Given the description of an element on the screen output the (x, y) to click on. 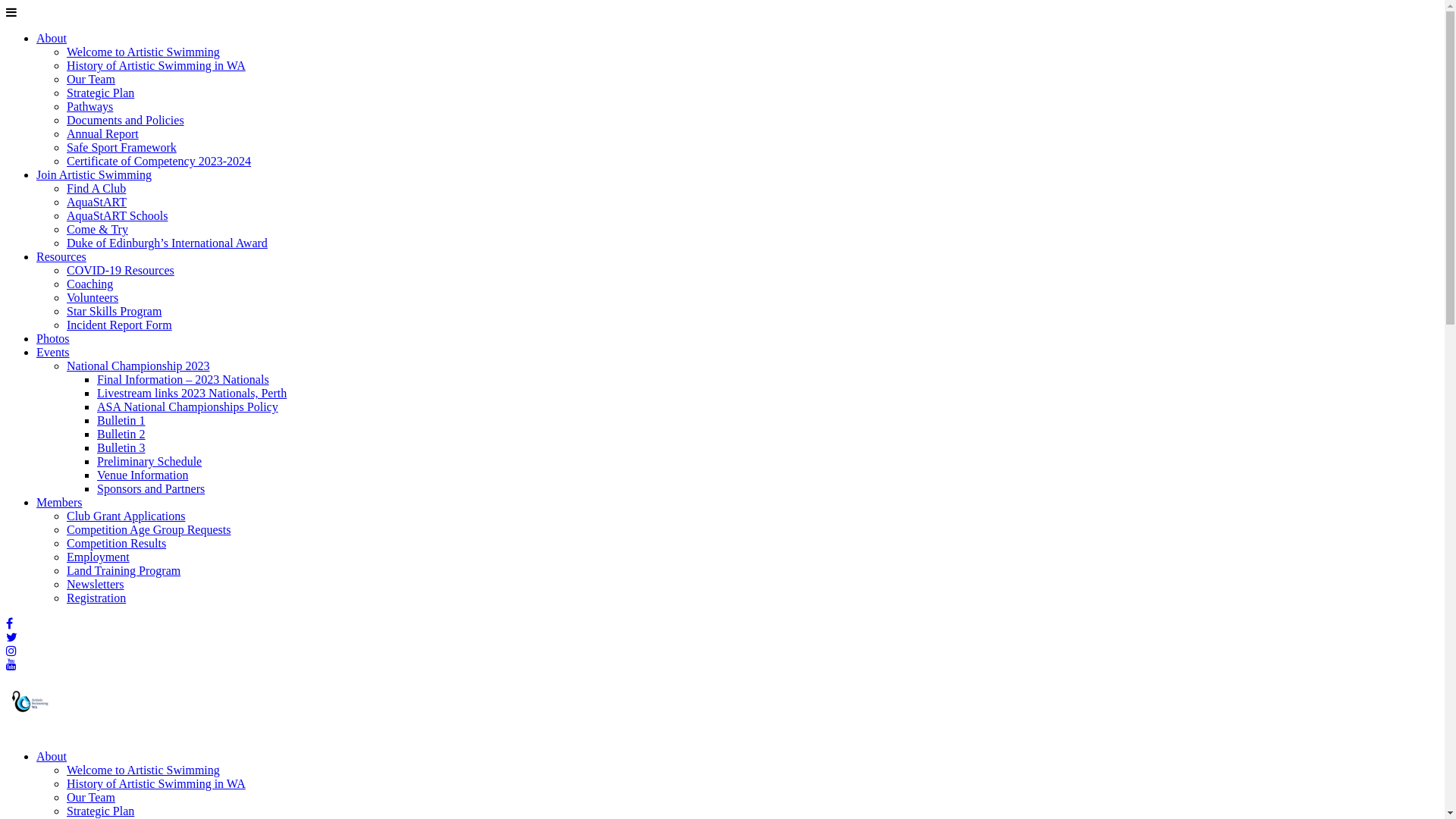
Welcome to Artistic Swimming Element type: text (142, 51)
About Element type: text (51, 37)
Come & Try Element type: text (97, 228)
Competition Age Group Requests Element type: text (148, 529)
Coaching Element type: text (89, 283)
AquaStART Element type: text (96, 201)
Events Element type: text (52, 351)
History of Artistic Swimming in WA Element type: text (155, 783)
AquaStART Schools Element type: text (116, 215)
Preliminary Schedule Element type: text (149, 461)
COVID-19 Resources Element type: text (120, 269)
Volunteers Element type: text (92, 297)
Club Grant Applications Element type: text (125, 515)
ASA National Championships Policy Element type: text (187, 406)
Employment Element type: text (97, 556)
About Element type: text (51, 755)
Strategic Plan Element type: text (100, 92)
Incident Report Form Element type: text (119, 324)
Land Training Program Element type: text (123, 570)
Pathways Element type: text (89, 106)
Find A Club Element type: text (95, 188)
Resources Element type: text (61, 256)
Sponsors and Partners Element type: text (150, 488)
Certificate of Competency 2023-2024 Element type: text (158, 160)
Livestream links 2023 Nationals, Perth Element type: text (191, 392)
Members Element type: text (58, 501)
Annual Report Element type: text (102, 133)
Venue Information Element type: text (142, 474)
Our Team Element type: text (90, 78)
Bulletin 1 Element type: text (121, 420)
Competition Results Element type: text (116, 542)
Star Skills Program Element type: text (113, 310)
Bulletin 3 Element type: text (121, 447)
Newsletters Element type: text (95, 583)
Documents and Policies Element type: text (125, 119)
Safe Sport Framework Element type: text (121, 147)
Our Team Element type: text (90, 796)
Strategic Plan Element type: text (100, 810)
Registration Element type: text (95, 597)
National Championship 2023 Element type: text (137, 365)
History of Artistic Swimming in WA Element type: text (155, 65)
Welcome to Artistic Swimming Element type: text (142, 769)
Photos Element type: text (52, 338)
Join Artistic Swimming Element type: text (93, 174)
Bulletin 2 Element type: text (121, 433)
